Given the description of an element on the screen output the (x, y) to click on. 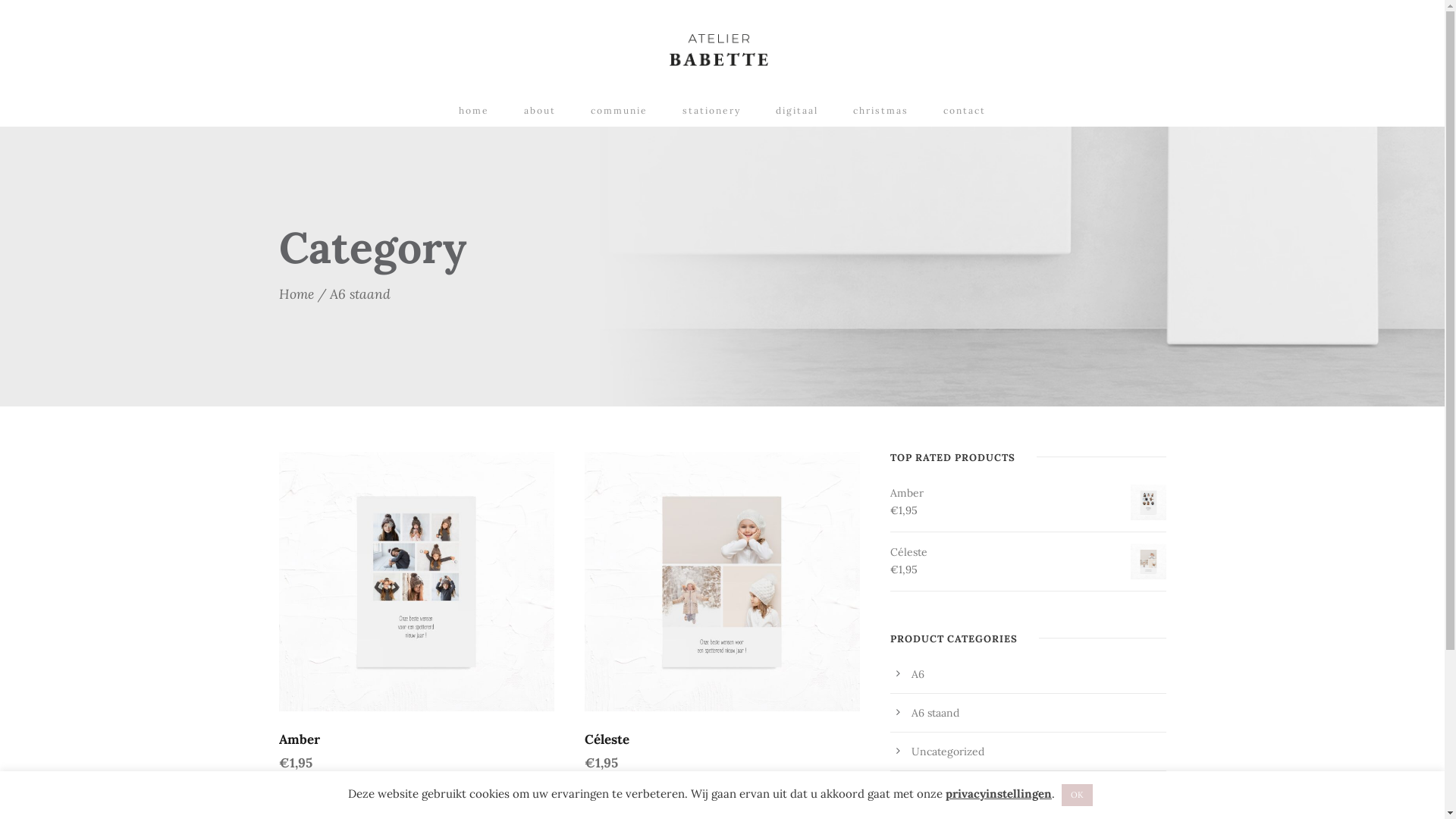
001 Element type: hover (416, 581)
Amber Element type: text (299, 739)
digitaal Element type: text (796, 114)
communie Element type: text (618, 114)
contact Element type: text (964, 114)
Home Element type: text (296, 293)
christmas Element type: text (880, 114)
A6 staand Element type: text (935, 712)
Amber Element type: text (1027, 492)
A6 Element type: text (917, 673)
home Element type: text (473, 114)
privacyinstellingen Element type: text (998, 793)
OK Element type: text (1076, 795)
Uncategorized Element type: text (947, 751)
about Element type: text (539, 114)
stationery Element type: text (711, 114)
Logo_AtelierBabette Element type: hover (717, 49)
002 Element type: hover (721, 581)
